Given the description of an element on the screen output the (x, y) to click on. 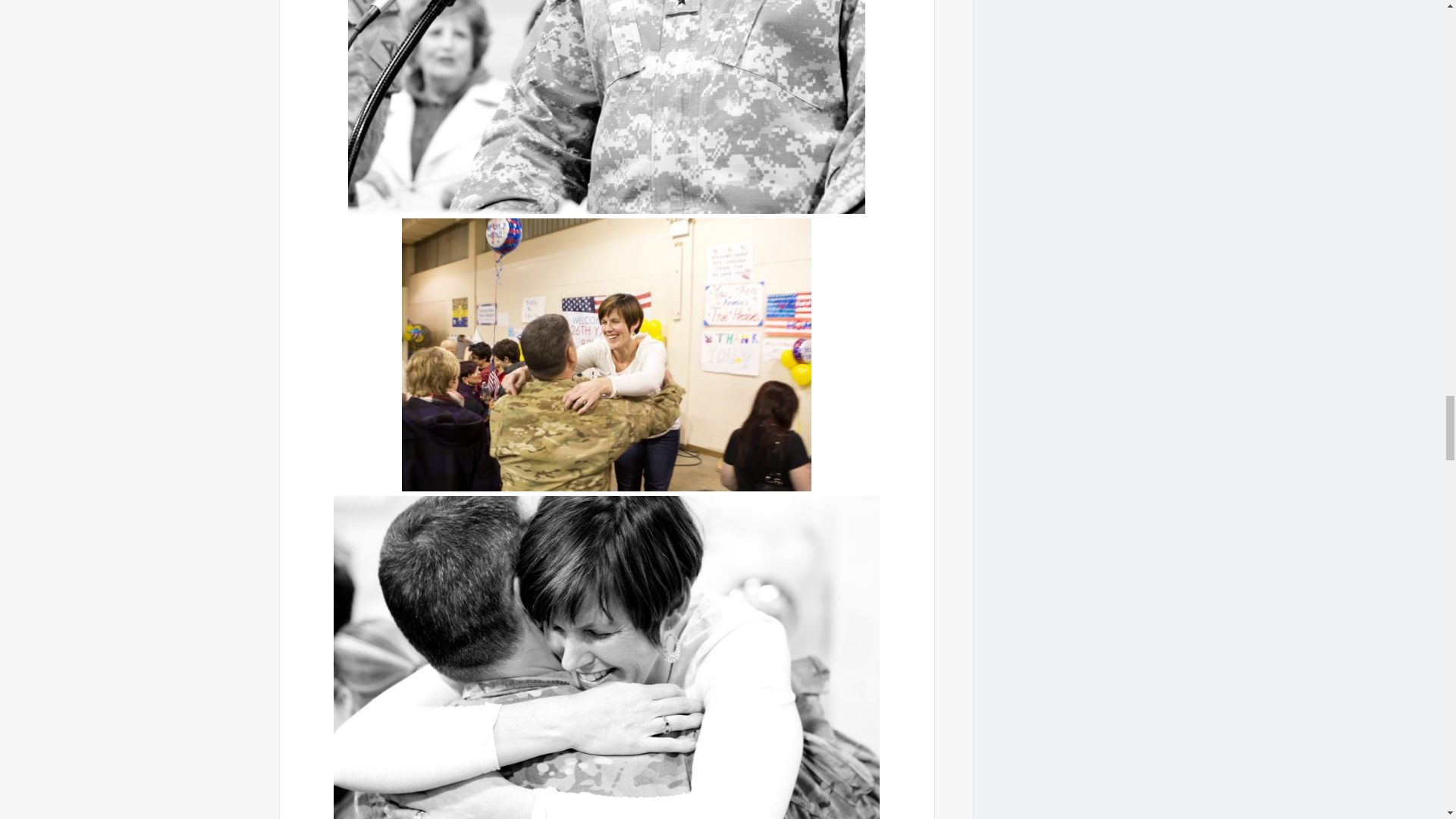
LeeHomecoming-1059 (605, 354)
LeeHomecoming-1040 (605, 106)
